Given the description of an element on the screen output the (x, y) to click on. 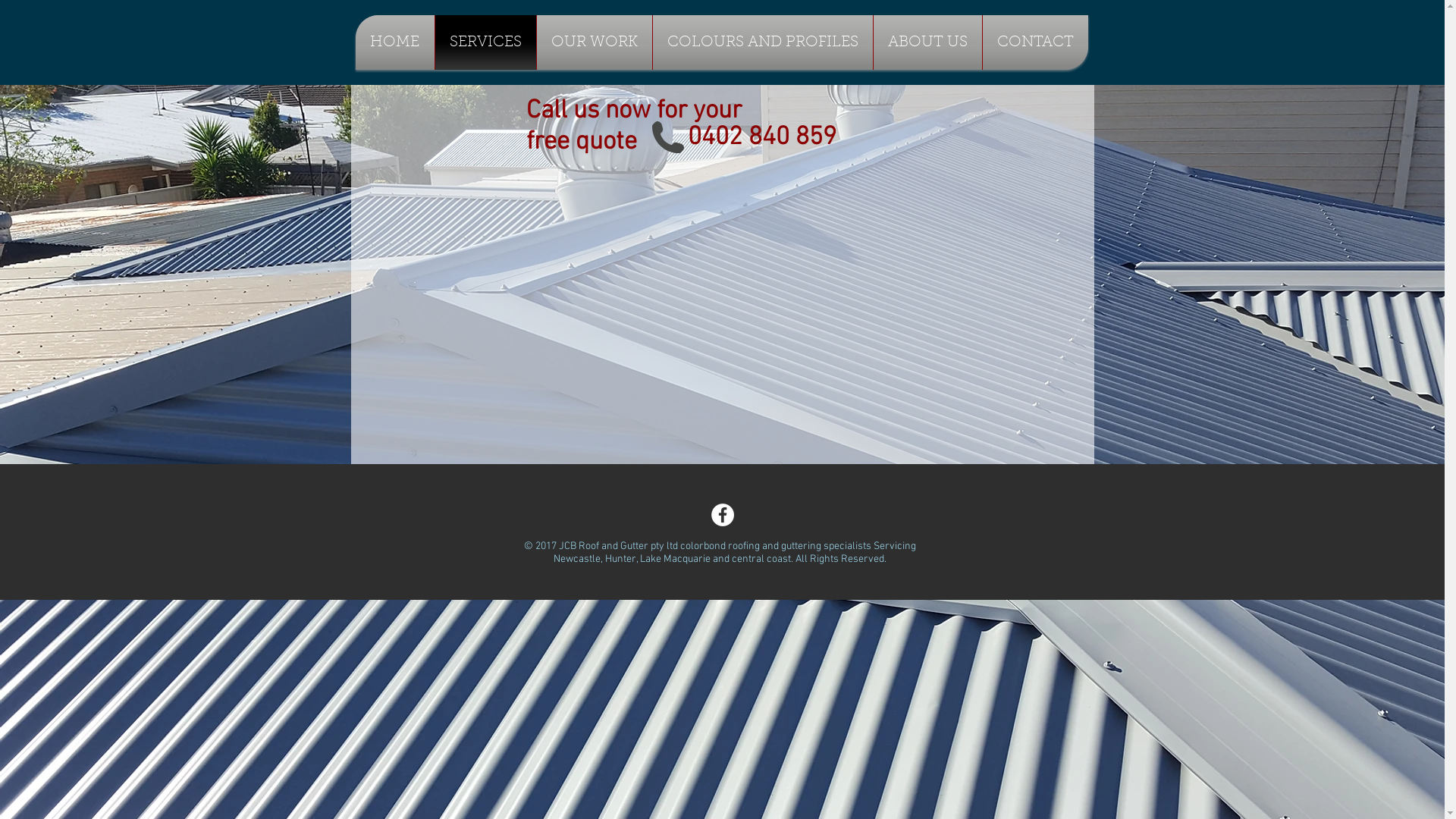
HOME Element type: text (393, 42)
OUR WORK Element type: text (594, 42)
ABOUT US Element type: text (927, 42)
COLOURS AND PROFILES Element type: text (762, 42)
CONTACT Element type: text (1035, 42)
0402 840 859 Element type: text (761, 137)
SERVICES Element type: text (485, 42)
